Given the description of an element on the screen output the (x, y) to click on. 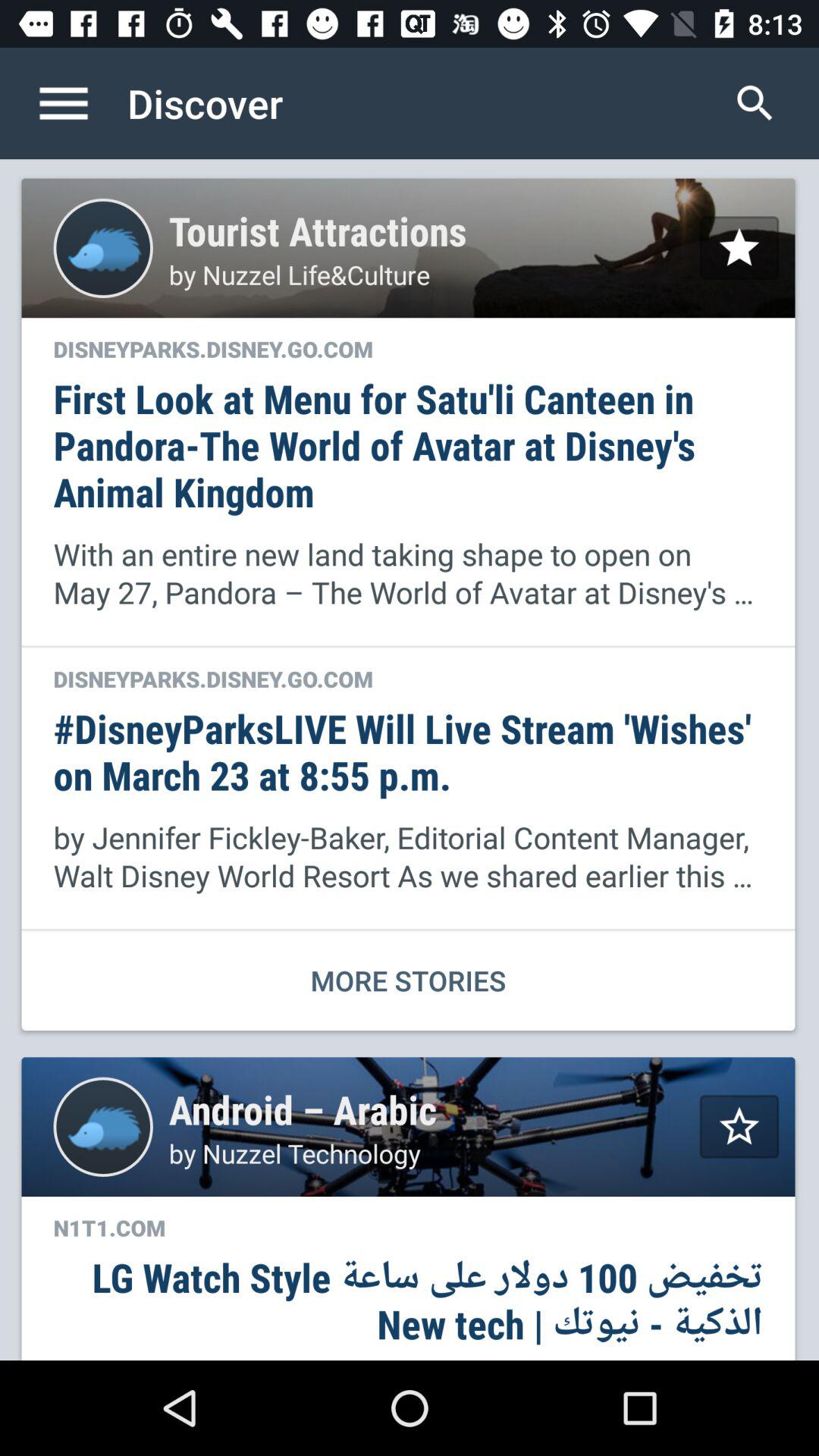
add favorite (739, 1126)
